Given the description of an element on the screen output the (x, y) to click on. 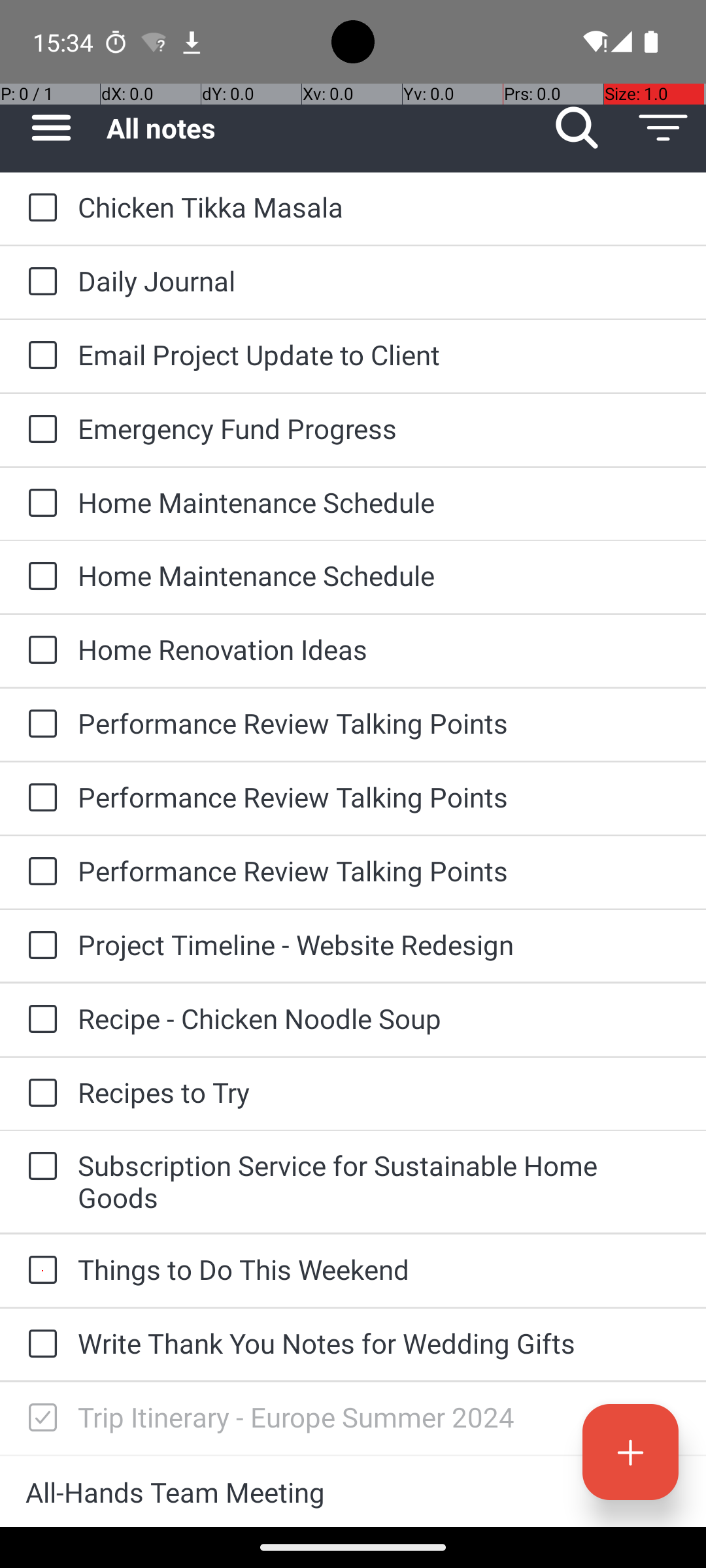
to-do: Chicken Tikka Masala Element type: android.widget.CheckBox (38, 208)
Chicken Tikka Masala Element type: android.widget.TextView (378, 206)
to-do: Daily Journal Element type: android.widget.CheckBox (38, 282)
Daily Journal Element type: android.widget.TextView (378, 280)
to-do: Email Project Update to Client Element type: android.widget.CheckBox (38, 356)
Email Project Update to Client Element type: android.widget.TextView (378, 354)
to-do: Emergency Fund Progress Element type: android.widget.CheckBox (38, 429)
Emergency Fund Progress Element type: android.widget.TextView (378, 427)
to-do: Home Maintenance Schedule Element type: android.widget.CheckBox (38, 503)
to-do: Home Renovation Ideas Element type: android.widget.CheckBox (38, 650)
Home Renovation Ideas Element type: android.widget.TextView (378, 648)
to-do: Recipe - Chicken Noodle Soup Element type: android.widget.CheckBox (38, 1019)
Recipe - Chicken Noodle Soup Element type: android.widget.TextView (378, 1017)
to-do: Recipes to Try Element type: android.widget.CheckBox (38, 1093)
Recipes to Try Element type: android.widget.TextView (378, 1091)
to-do: Subscription Service for Sustainable Home Goods Element type: android.widget.CheckBox (38, 1166)
Subscription Service for Sustainable Home Goods Element type: android.widget.TextView (378, 1180)
to-do: Things to Do This Weekend Element type: android.widget.CheckBox (38, 1270)
Things to Do This Weekend Element type: android.widget.TextView (378, 1268)
to-do: Write Thank You Notes for Wedding Gifts Element type: android.widget.CheckBox (38, 1344)
Write Thank You Notes for Wedding Gifts Element type: android.widget.TextView (378, 1342)
to-do: Trip Itinerary - Europe Summer 2024 Element type: android.widget.CheckBox (38, 1418)
Trip Itinerary - Europe Summer 2024 Element type: android.widget.TextView (378, 1416)
All-Hands Team Meeting Element type: android.widget.TextView (352, 1491)
